Given the description of an element on the screen output the (x, y) to click on. 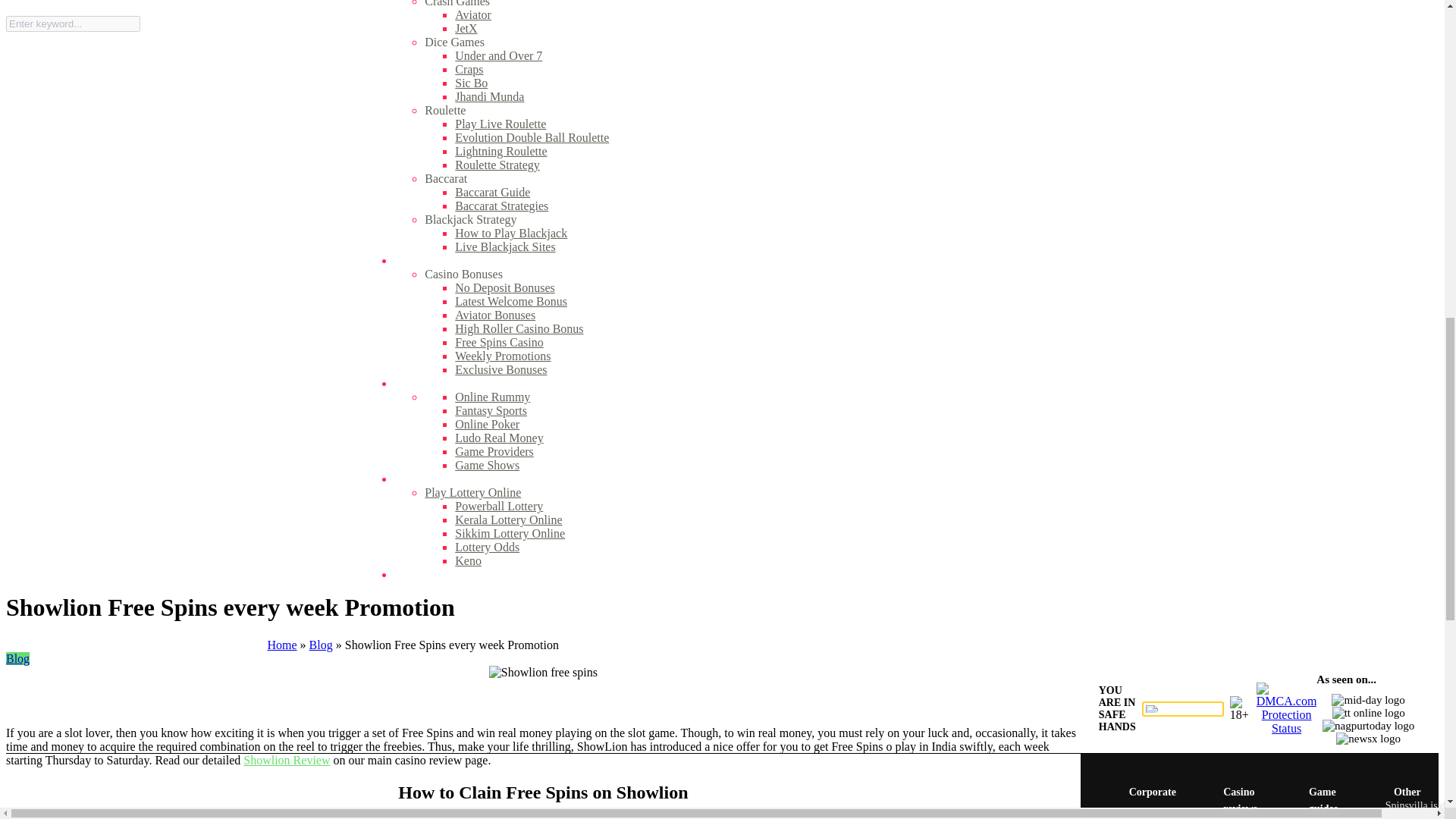
DMCA.com Protection Status (1286, 727)
